Given the description of an element on the screen output the (x, y) to click on. 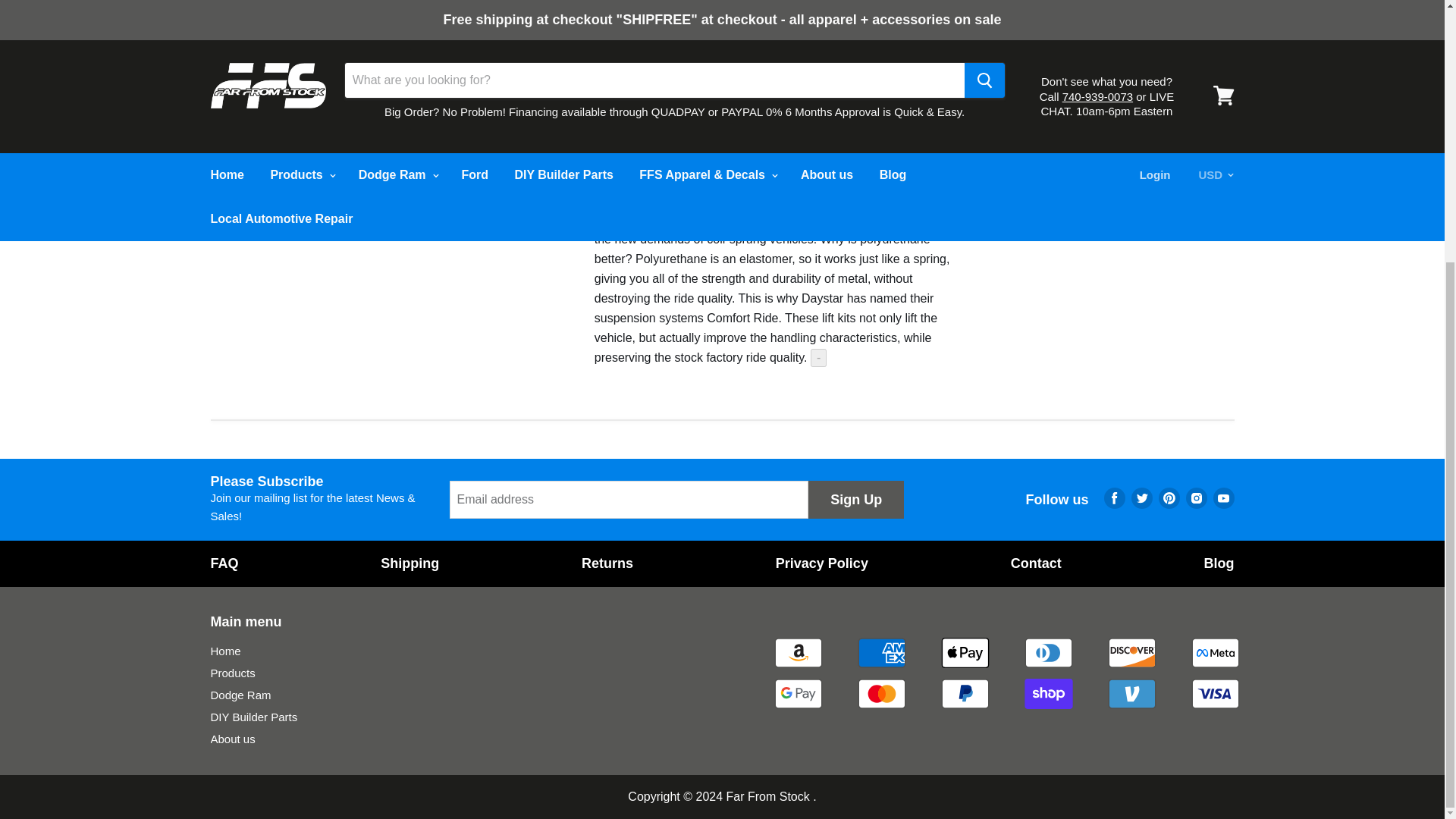
Instagram (1195, 497)
American Express (880, 653)
Facebook (1114, 497)
Amazon (797, 653)
Twitter (1142, 497)
Pinterest (1169, 497)
Youtube (1223, 497)
